Given the description of an element on the screen output the (x, y) to click on. 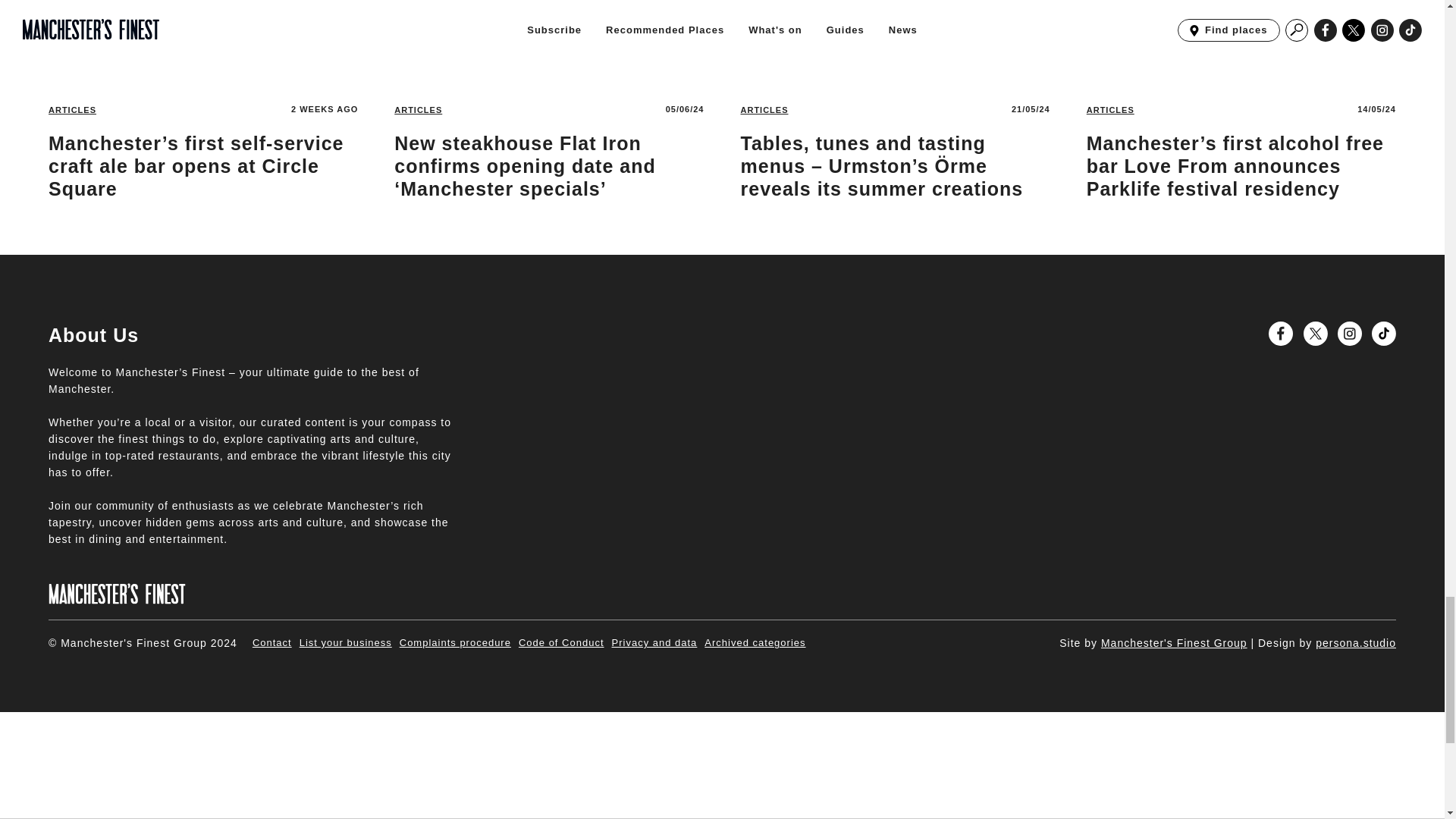
Go to Manchester's Finest Facebook page (1280, 333)
Go to Manchester's Finest TikTok profile (1383, 333)
Go to Manchester's Finest Instagram profile (1349, 333)
Go to Manchester's Finest X profile (1315, 333)
